Given the description of an element on the screen output the (x, y) to click on. 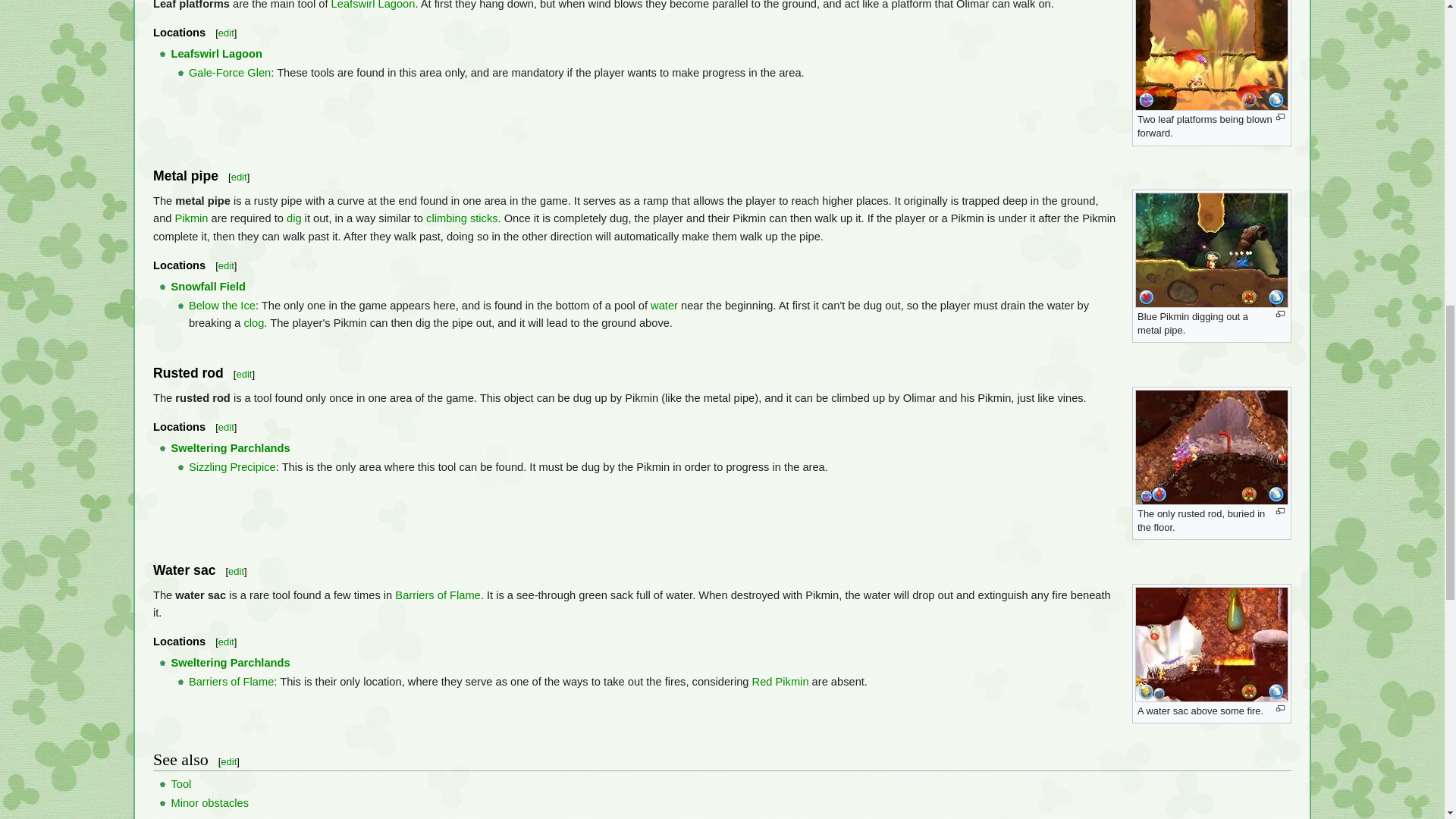
Leafswirl Lagoon (372, 4)
Leafswirl Lagoon (372, 4)
Edit section: Locations (226, 32)
Gale-Force Glen (229, 72)
edit (226, 32)
Enlarge (1280, 117)
Leafswirl Lagoon (216, 53)
edit (239, 176)
